Given the description of an element on the screen output the (x, y) to click on. 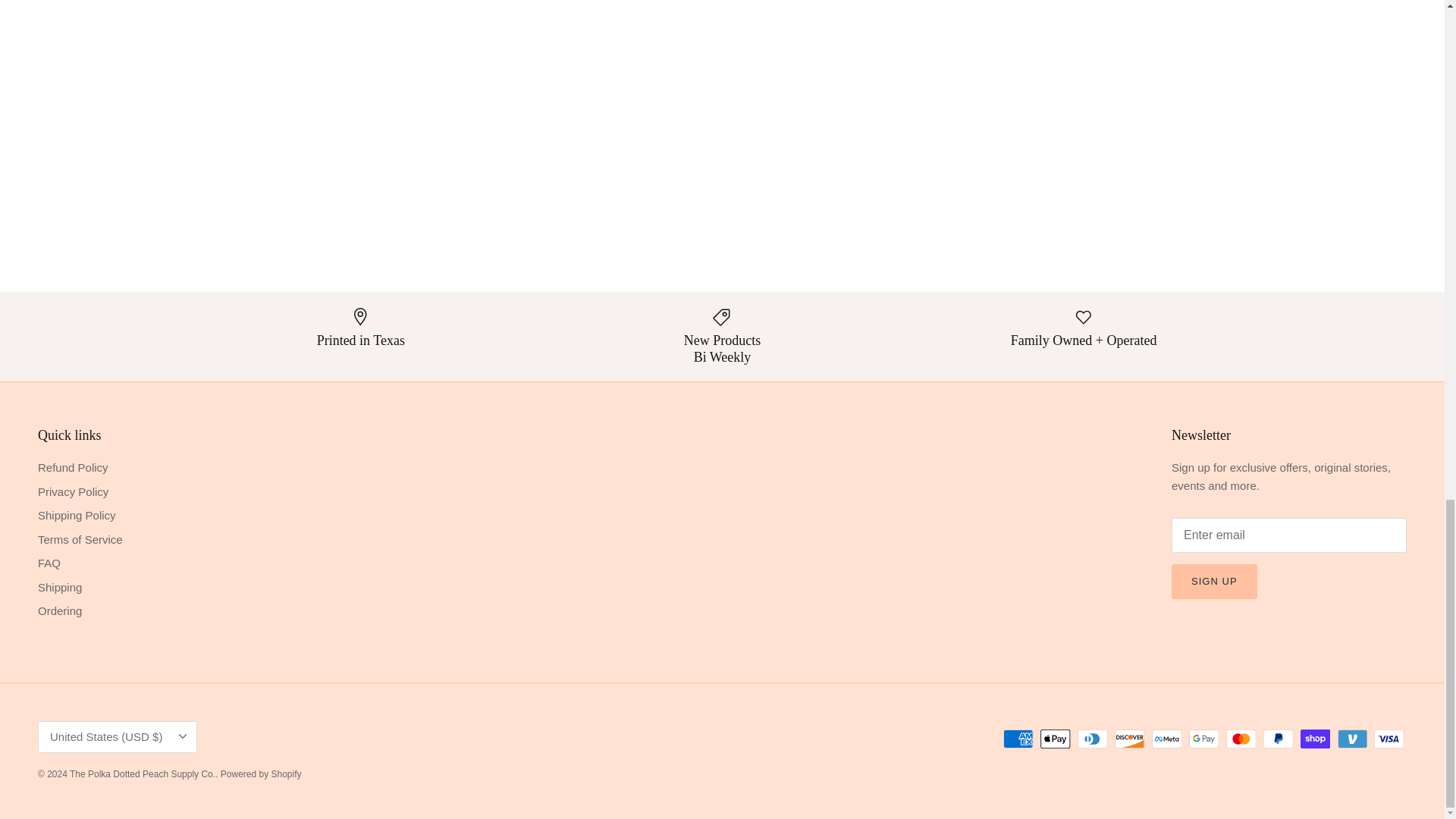
Shop Pay (1315, 738)
Meta Pay (1166, 738)
Visa (1388, 738)
Mastercard (1240, 738)
Venmo (1352, 738)
Apple Pay (1055, 738)
Discover (1129, 738)
PayPal (1277, 738)
American Express (1018, 738)
Google Pay (1203, 738)
